Given the description of an element on the screen output the (x, y) to click on. 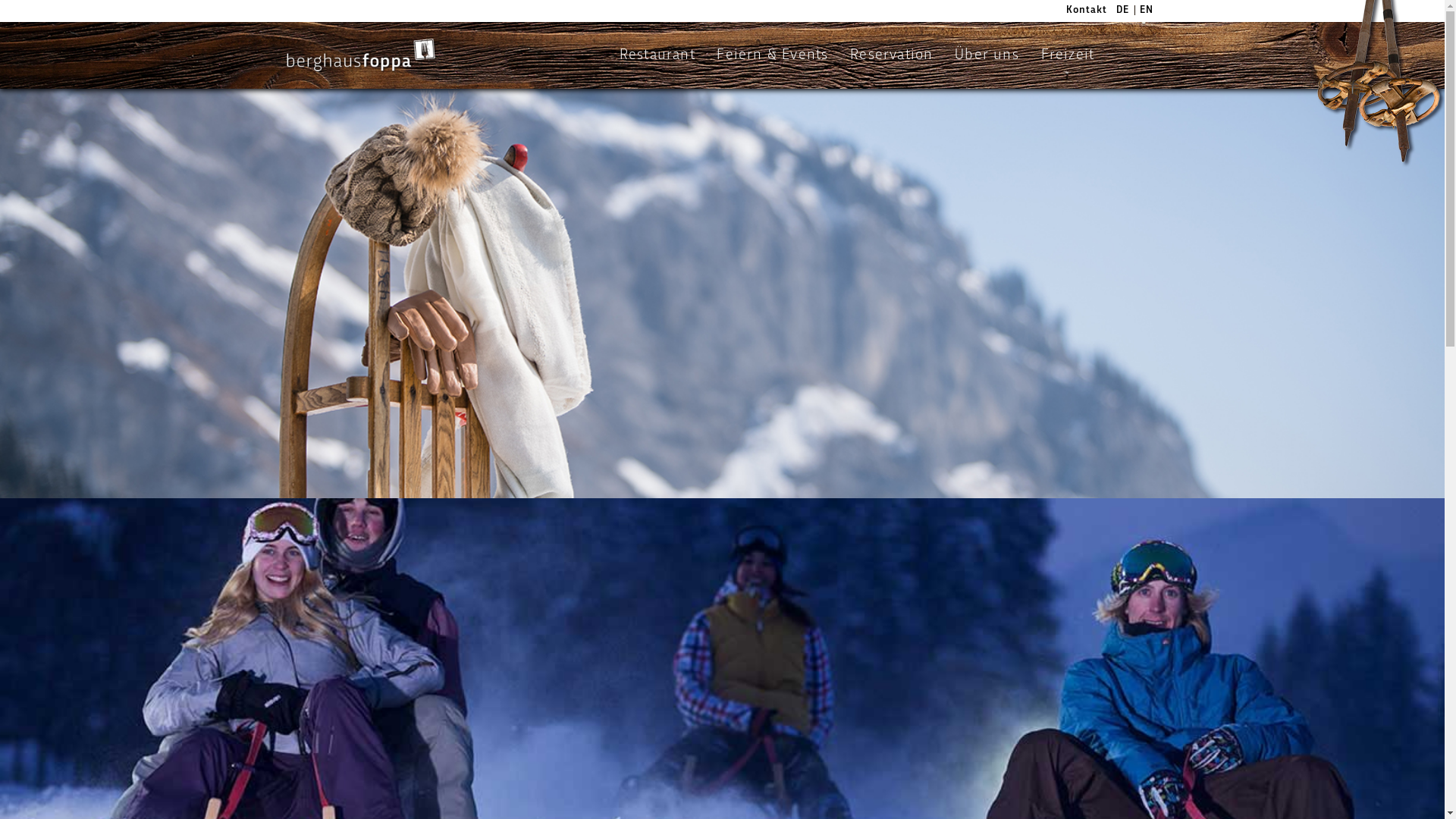
Restaurant Element type: text (657, 54)
DE Element type: text (1123, 10)
EN Element type: text (1146, 10)
Kontakt Element type: text (1085, 10)
Freizeit Element type: text (1067, 54)
Feiern & Events Element type: text (772, 54)
Reservation Element type: text (891, 54)
